Given the description of an element on the screen output the (x, y) to click on. 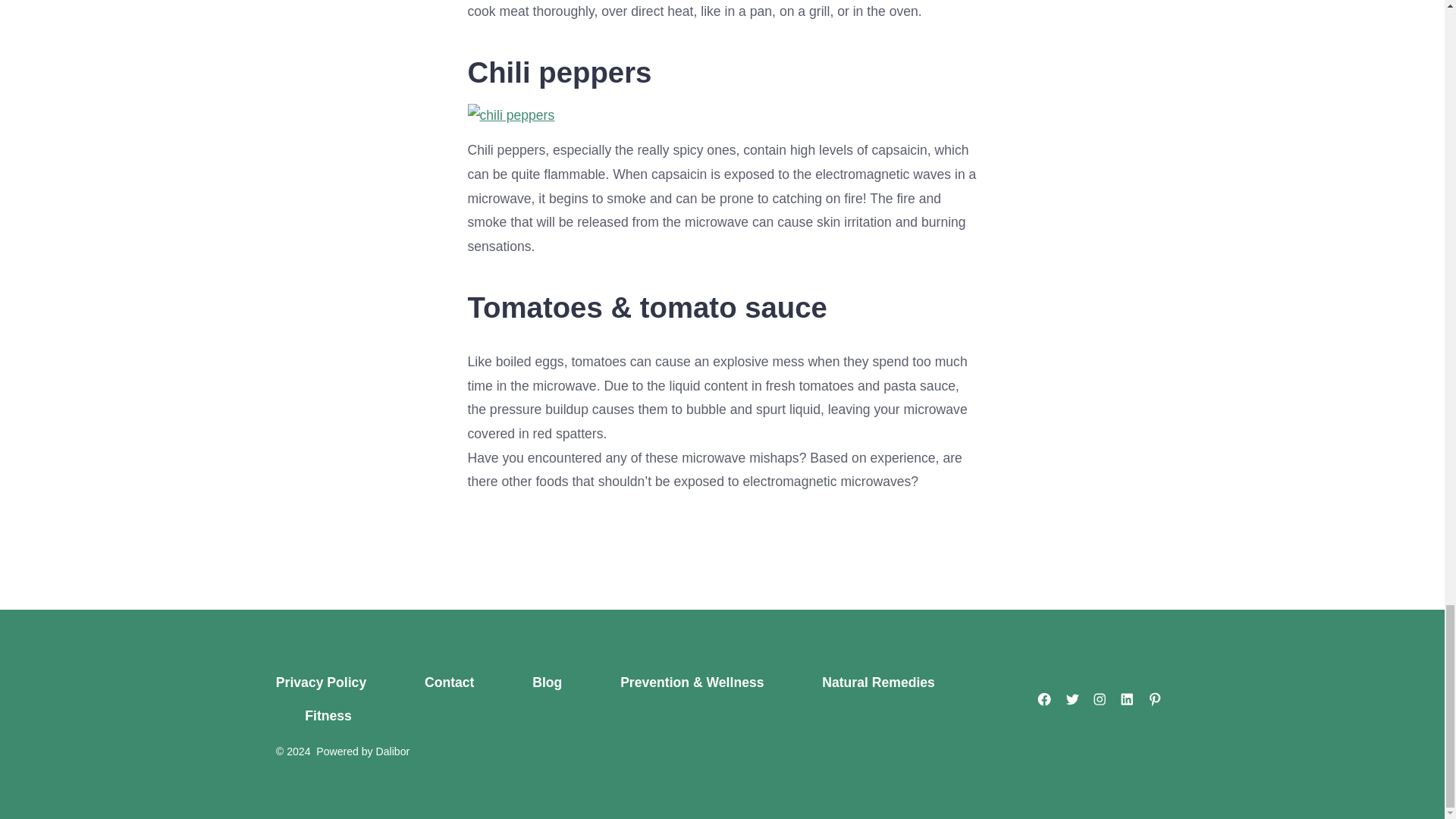
Natural Remedies (878, 683)
Contact (449, 683)
Privacy Policy (336, 683)
Open Pinterest in a new tab (1155, 698)
7 Foods You Should Never Reheat in the Microwave (721, 115)
Blog (547, 683)
Open Instagram in a new tab (1099, 698)
Open Twitter in a new tab (1072, 698)
Fitness (328, 716)
Open Facebook in a new tab (1044, 698)
